Given the description of an element on the screen output the (x, y) to click on. 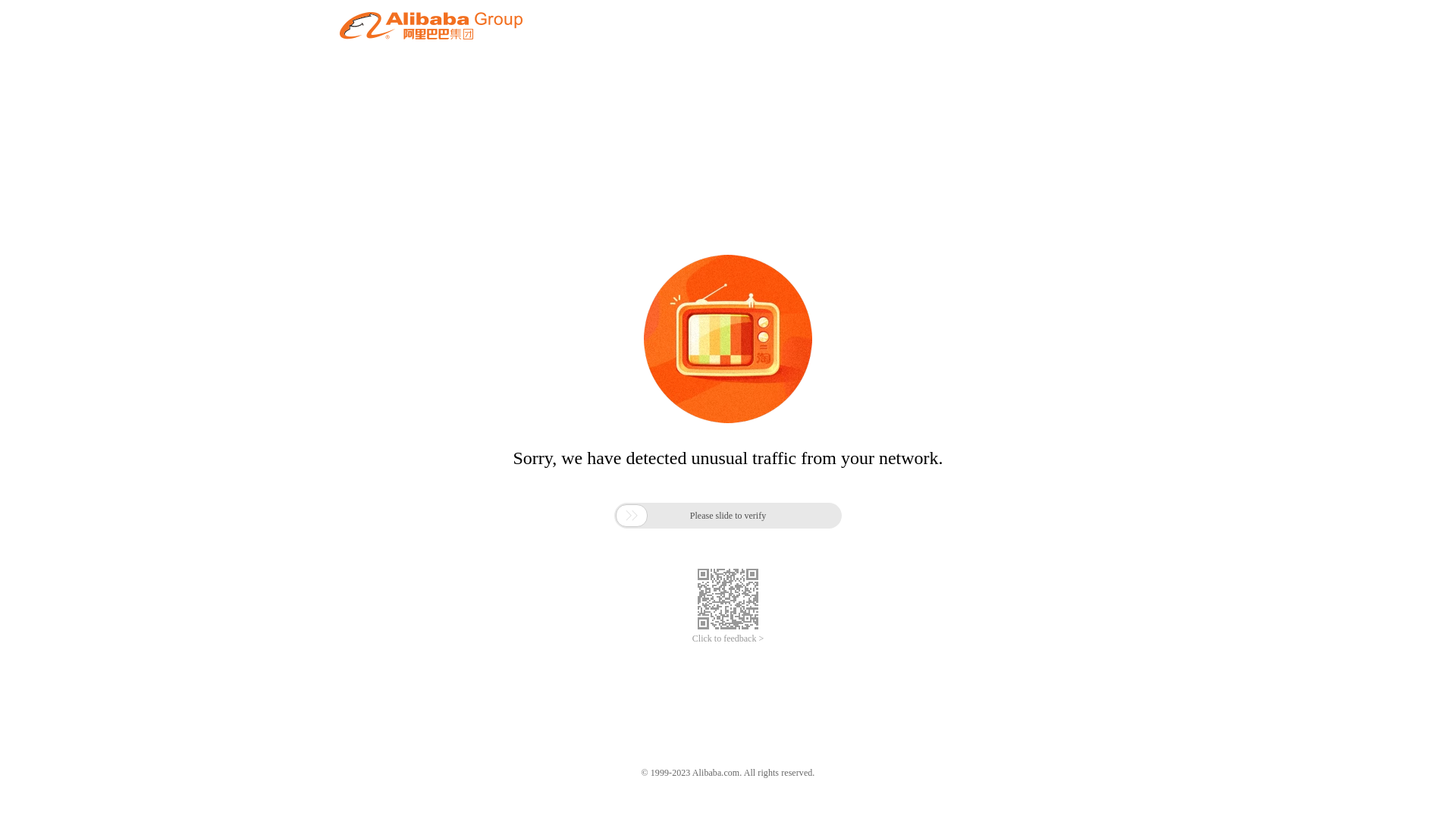
Click to feedback > Element type: text (727, 638)
